Given the description of an element on the screen output the (x, y) to click on. 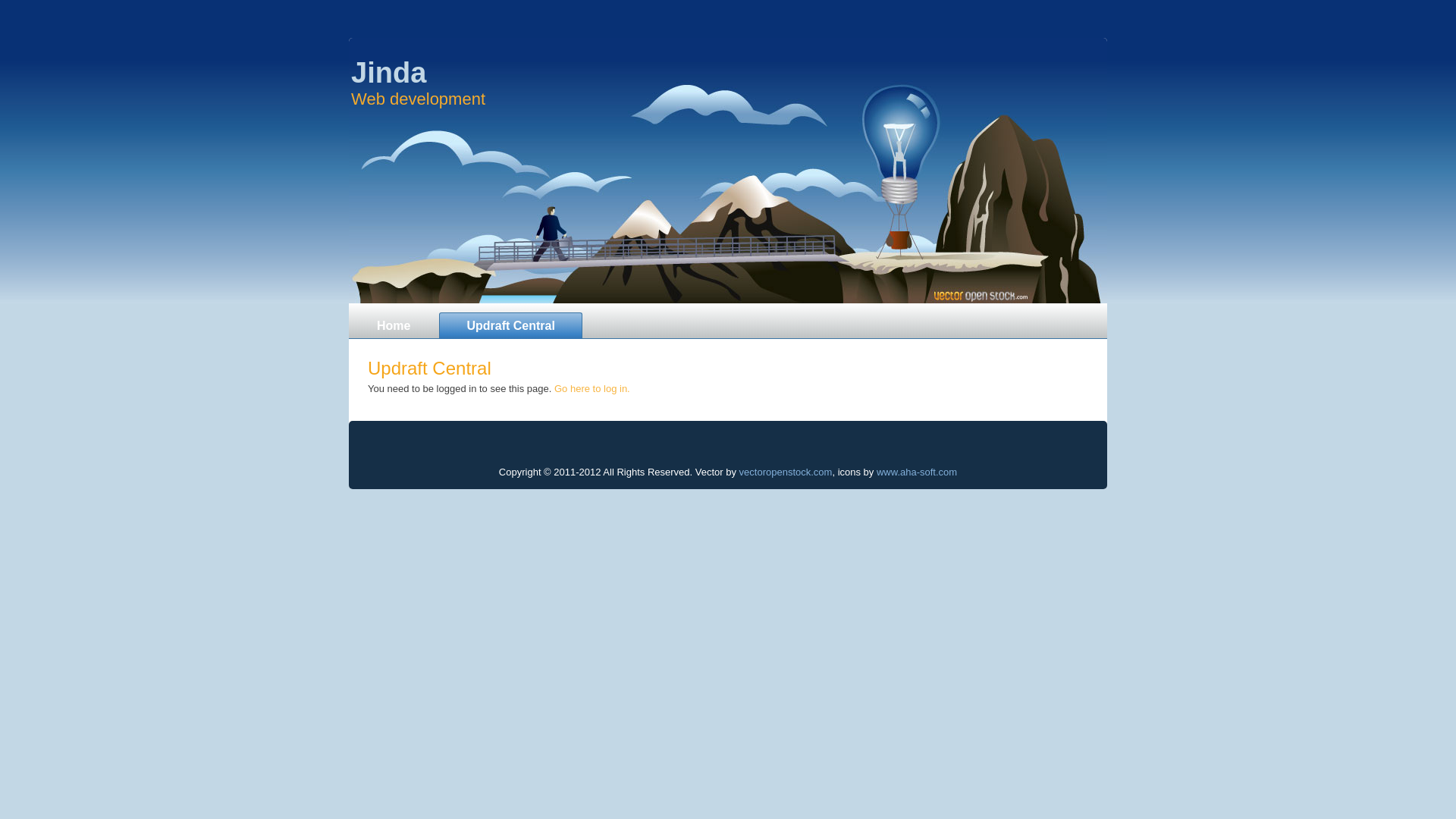
Home Element type: text (393, 325)
Updraft Central Element type: text (510, 325)
Jinda Element type: text (388, 72)
vectoropenstock.com Element type: text (785, 471)
www.aha-soft.com Element type: text (916, 471)
Go here to log in. Element type: text (592, 388)
